Given the description of an element on the screen output the (x, y) to click on. 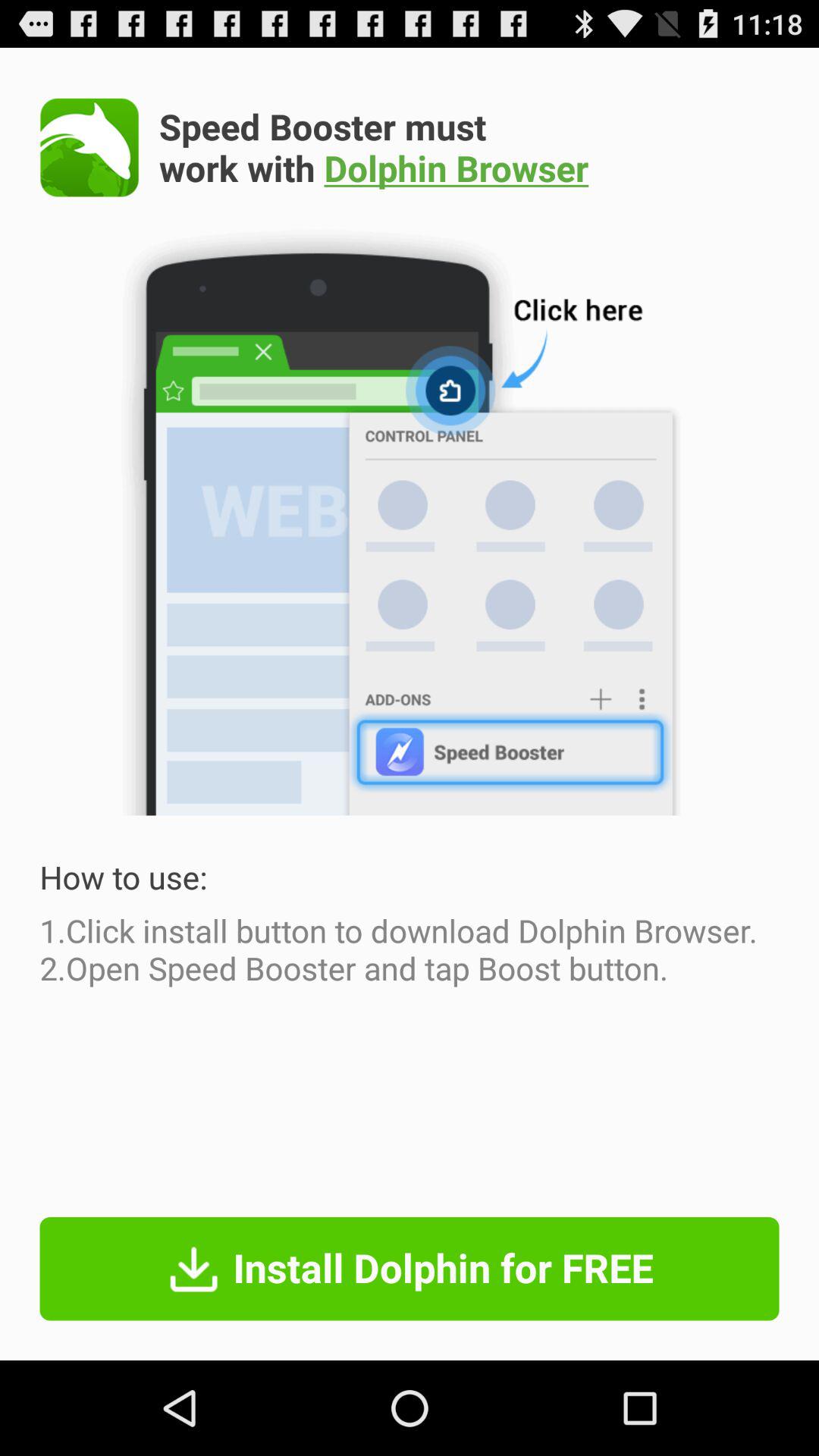
link to browser (89, 147)
